Given the description of an element on the screen output the (x, y) to click on. 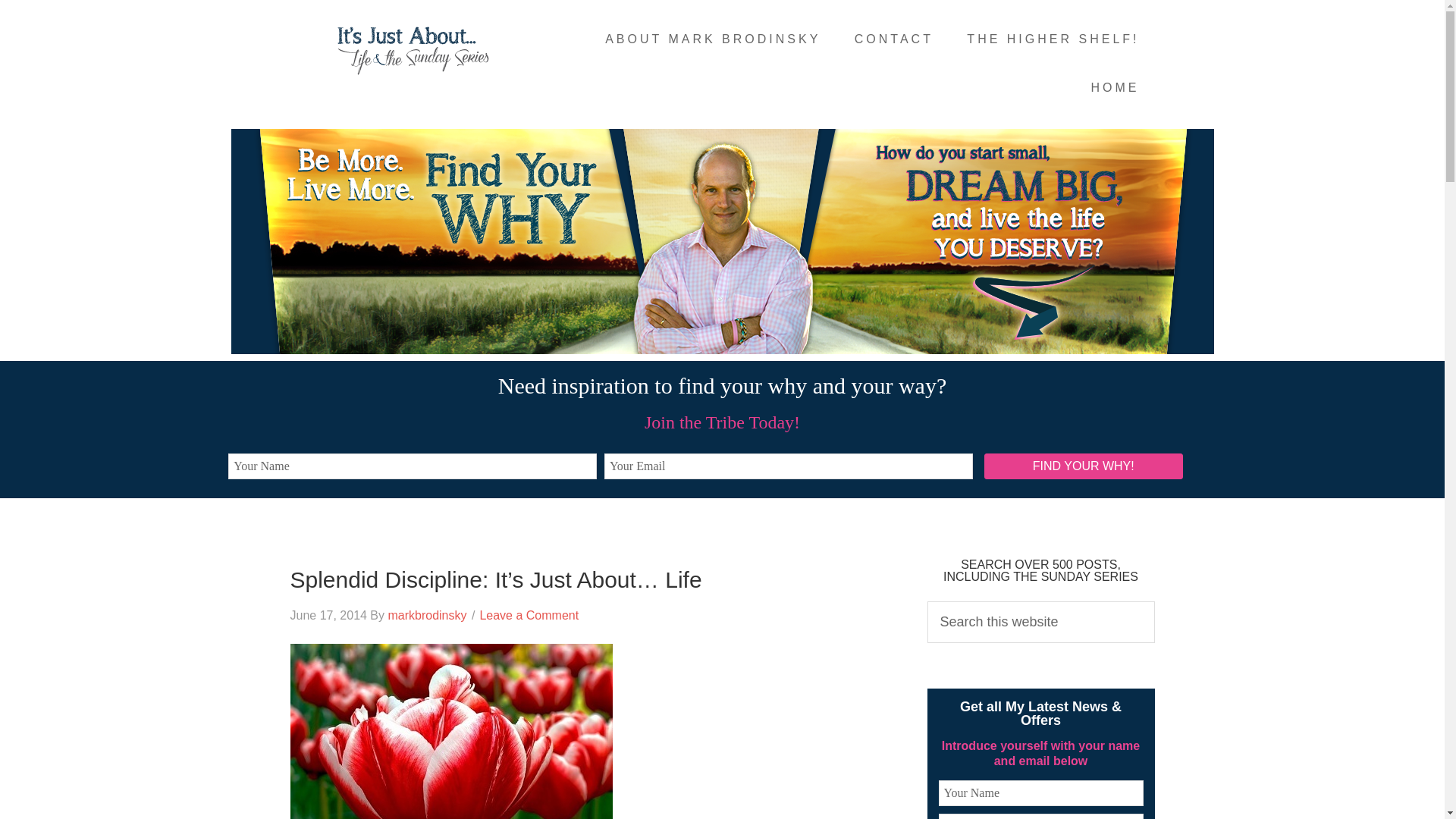
Find Your Why! (1083, 466)
THE HIGHER SHELF! (1053, 39)
markbrodinsky (426, 615)
Leave a Comment (528, 615)
CONTACT (894, 39)
ABOUT MARK BRODINSKY (712, 39)
HOME (1114, 87)
Find Your Why! (1083, 466)
